Given the description of an element on the screen output the (x, y) to click on. 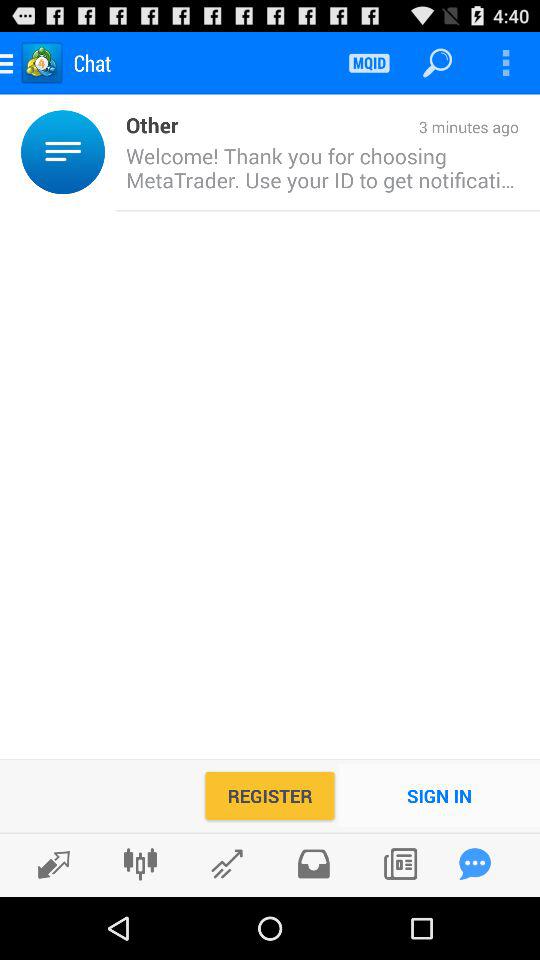
leave a comment (475, 864)
